Given the description of an element on the screen output the (x, y) to click on. 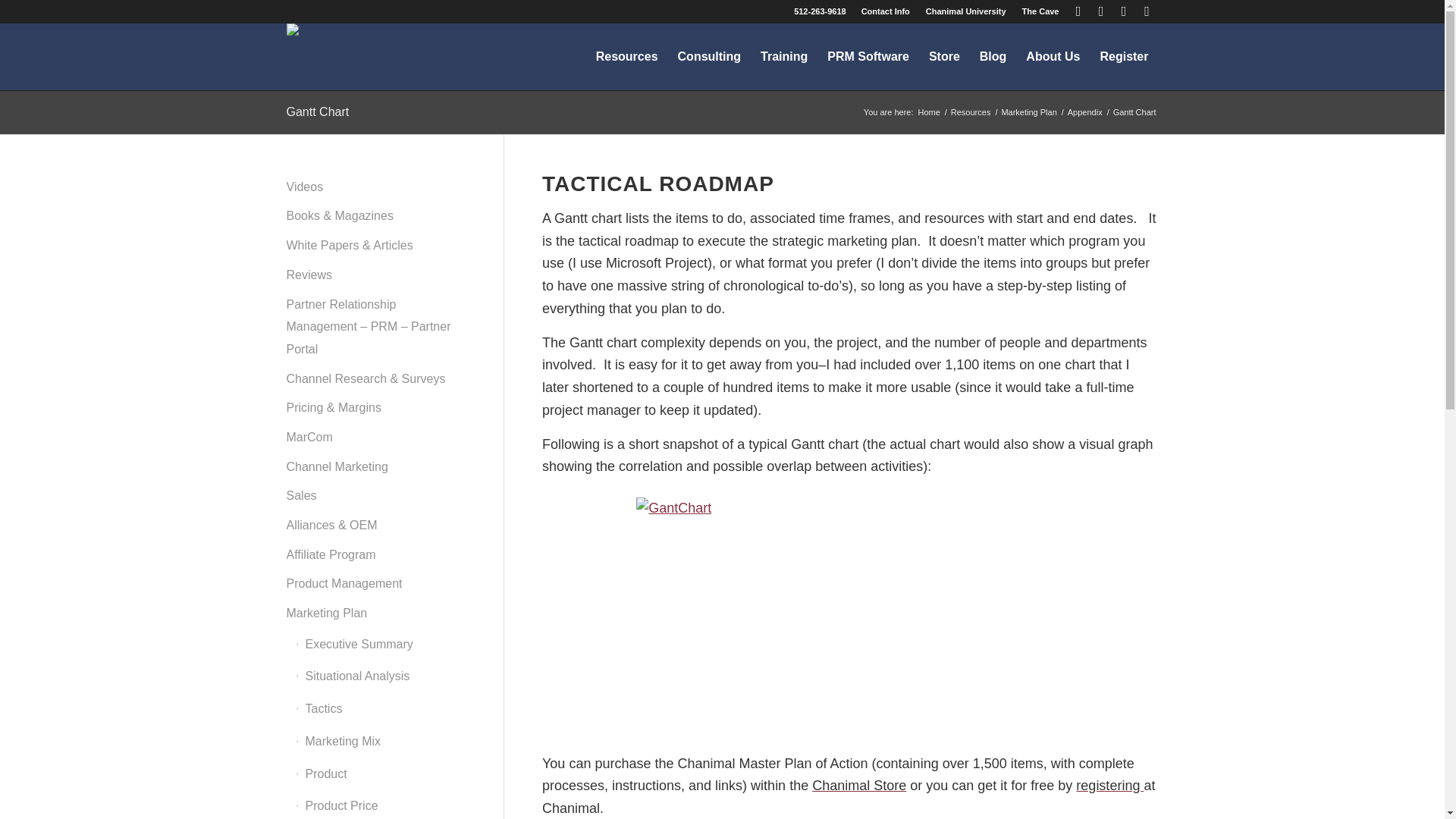
Permanent Link: Gantt Chart (317, 111)
Marketing Plan (1028, 112)
The Cave (1040, 11)
Facebook (1078, 11)
Chanimal University (966, 11)
Resources (970, 112)
Contact Info (885, 11)
Appendix (1085, 112)
Register (1108, 785)
Resources (627, 56)
